Given the description of an element on the screen output the (x, y) to click on. 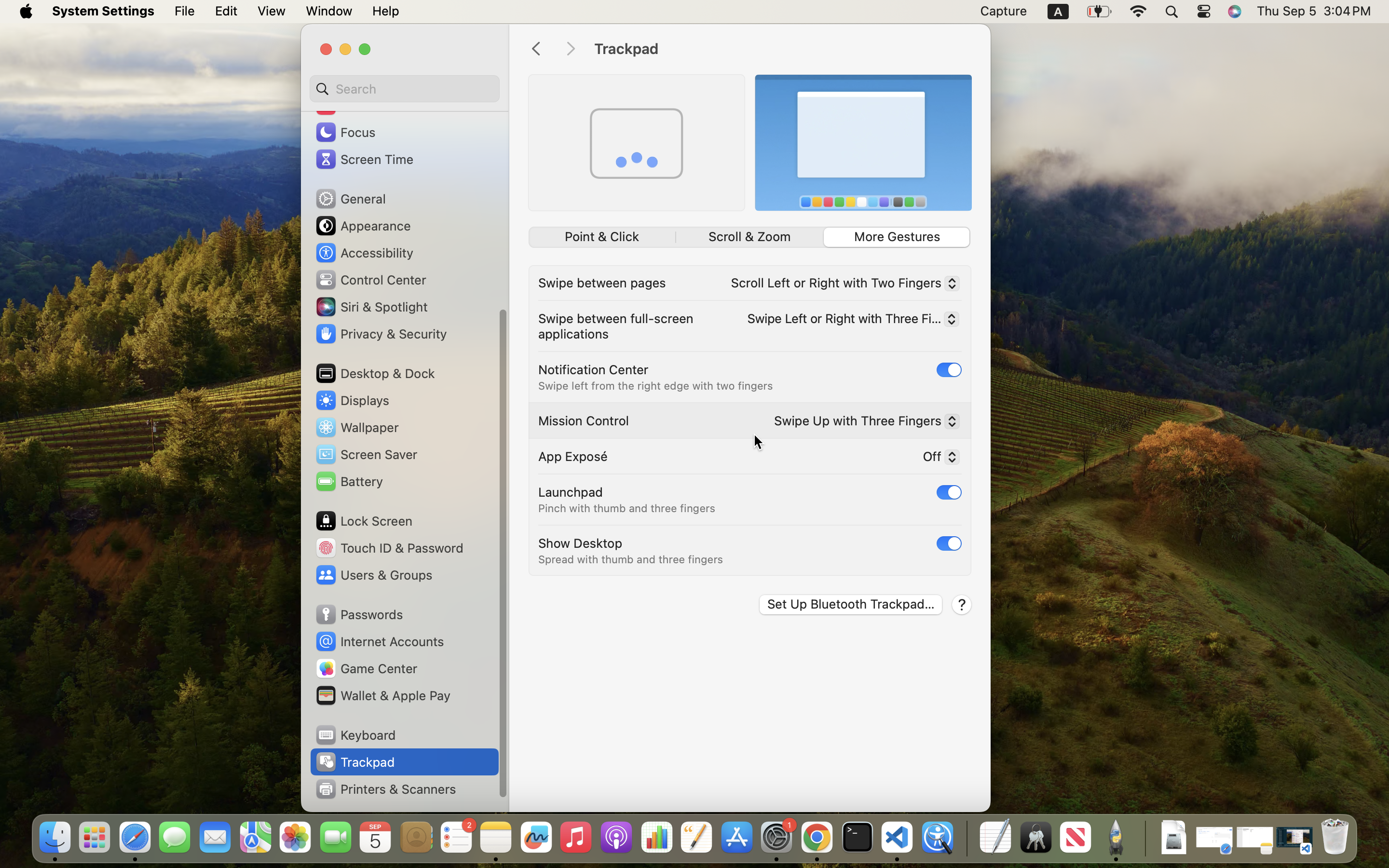
Users & Groups Element type: AXStaticText (373, 574)
Passwords Element type: AXStaticText (358, 613)
Keyboard Element type: AXStaticText (354, 734)
Focus Element type: AXStaticText (344, 131)
